Given the description of an element on the screen output the (x, y) to click on. 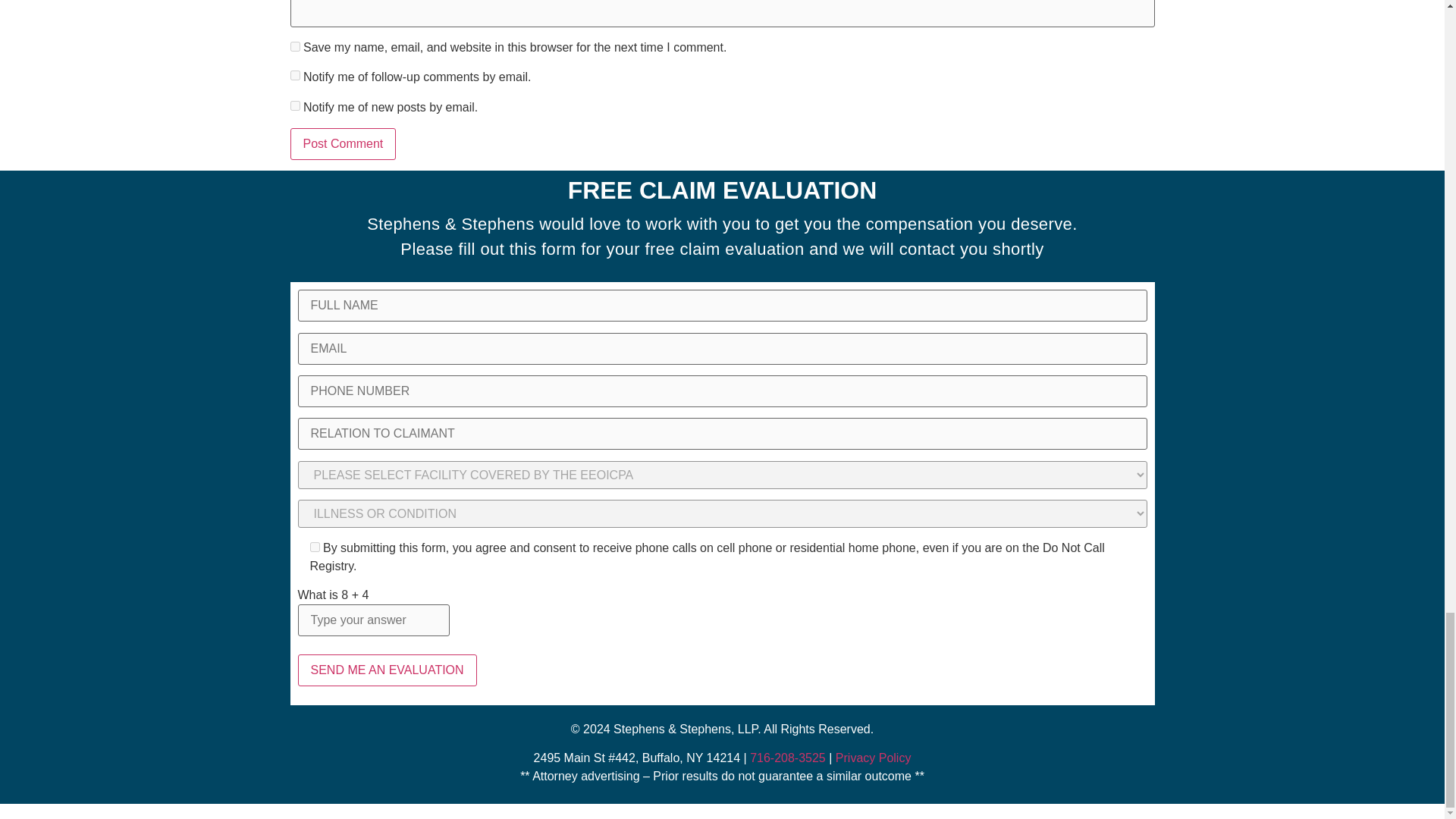
yes (294, 46)
SEND ME AN EVALUATION (386, 670)
subscribe (294, 75)
Post Comment (342, 143)
subscribe (294, 105)
